Given the description of an element on the screen output the (x, y) to click on. 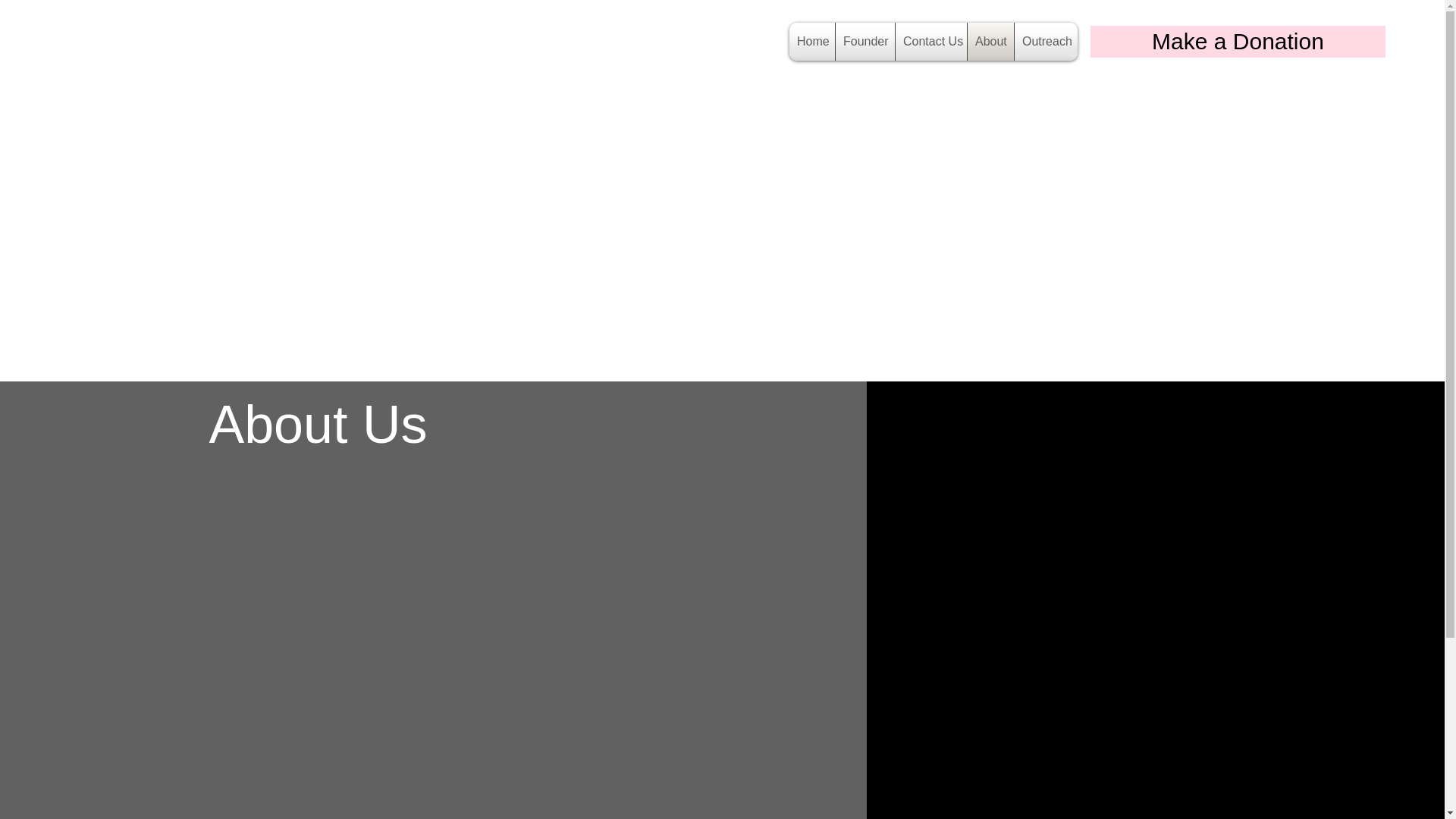
Outreach (1045, 41)
About (990, 41)
Home (811, 41)
Make a Donation (1238, 41)
Contact Us (930, 41)
Founder (865, 41)
